Given the description of an element on the screen output the (x, y) to click on. 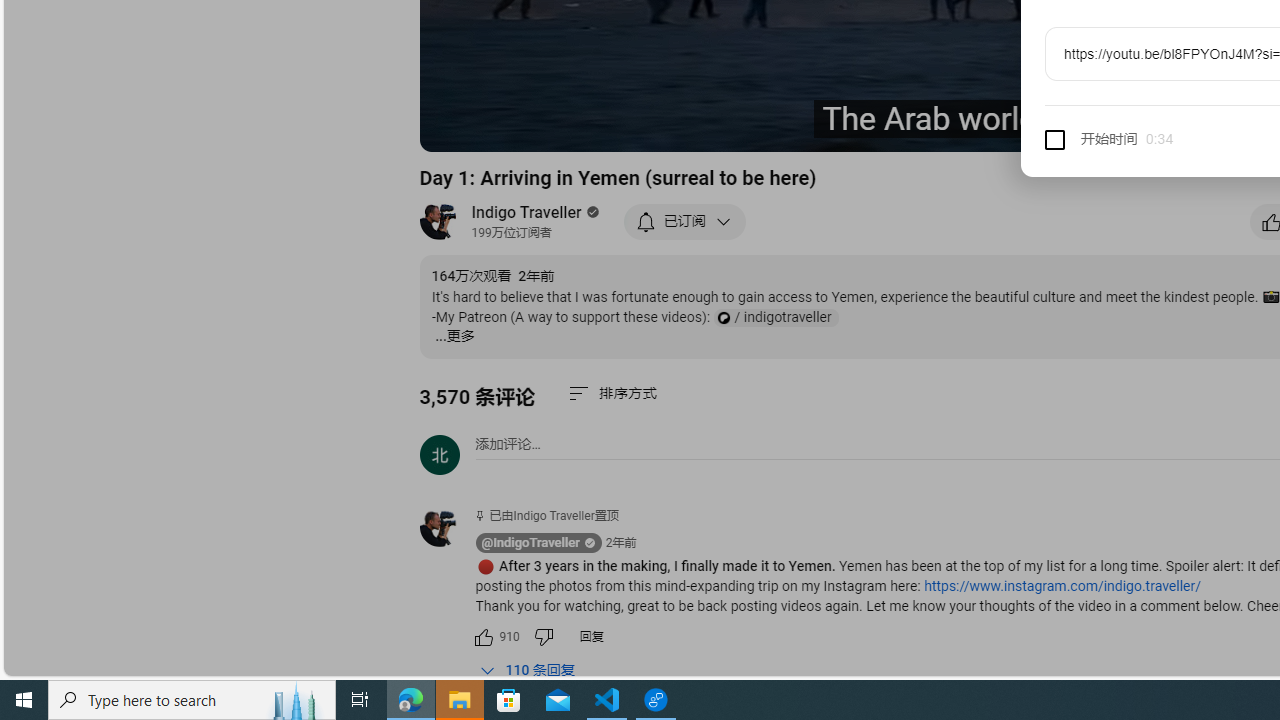
@IndigoTraveller (447, 528)
AutomationID: simplebox-placeholder (507, 444)
Indigo Traveller (527, 211)
https://www.instagram.com/indigo.traveller/ (1062, 586)
